Given the description of an element on the screen output the (x, y) to click on. 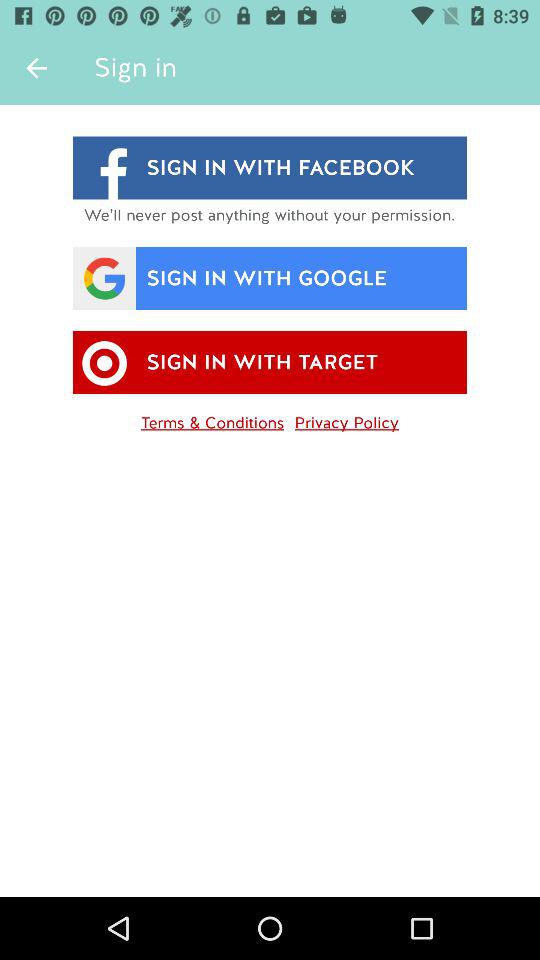
flip to the privacy policy icon (346, 419)
